Given the description of an element on the screen output the (x, y) to click on. 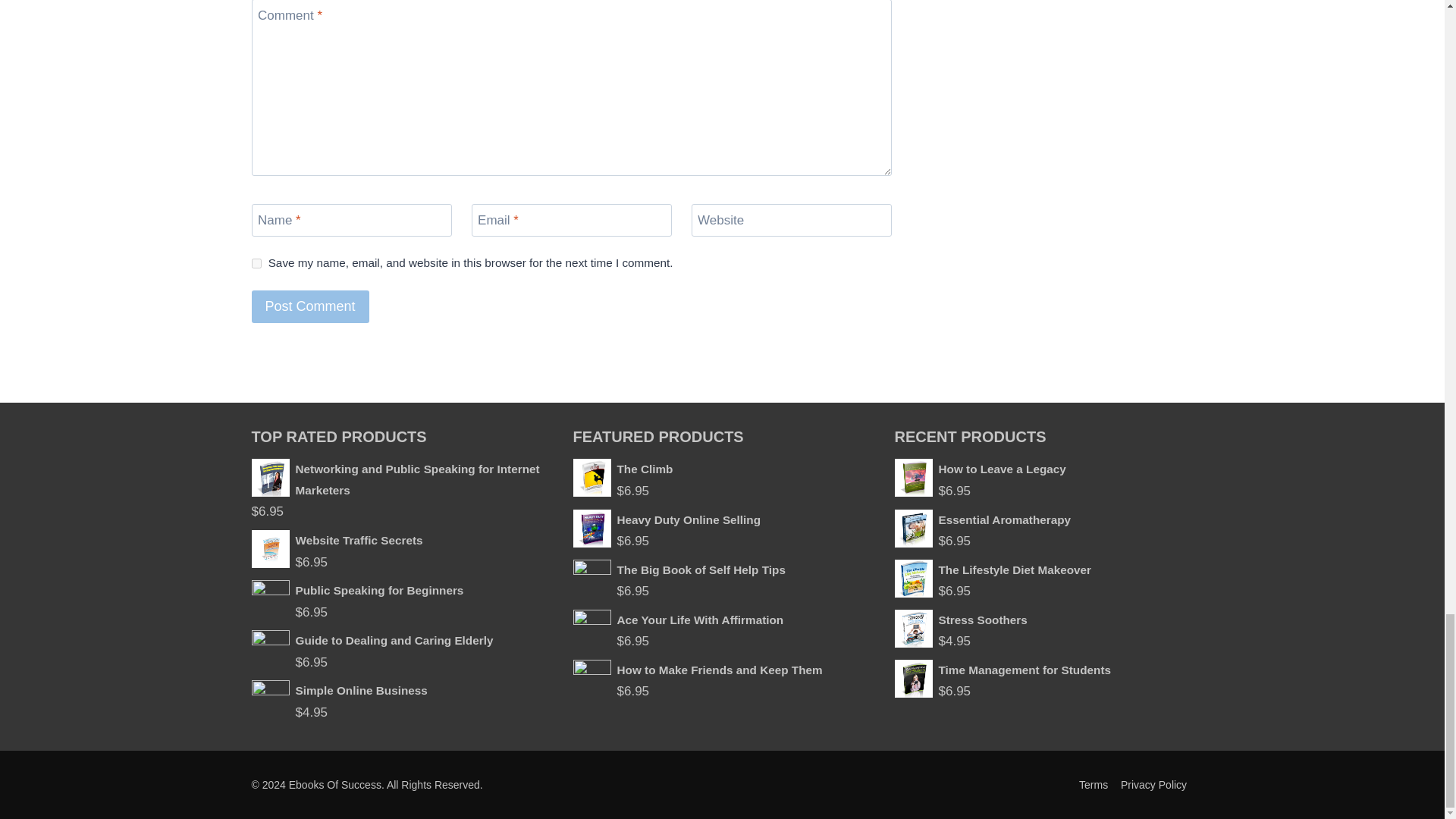
yes (256, 263)
Post Comment (310, 306)
